Given the description of an element on the screen output the (x, y) to click on. 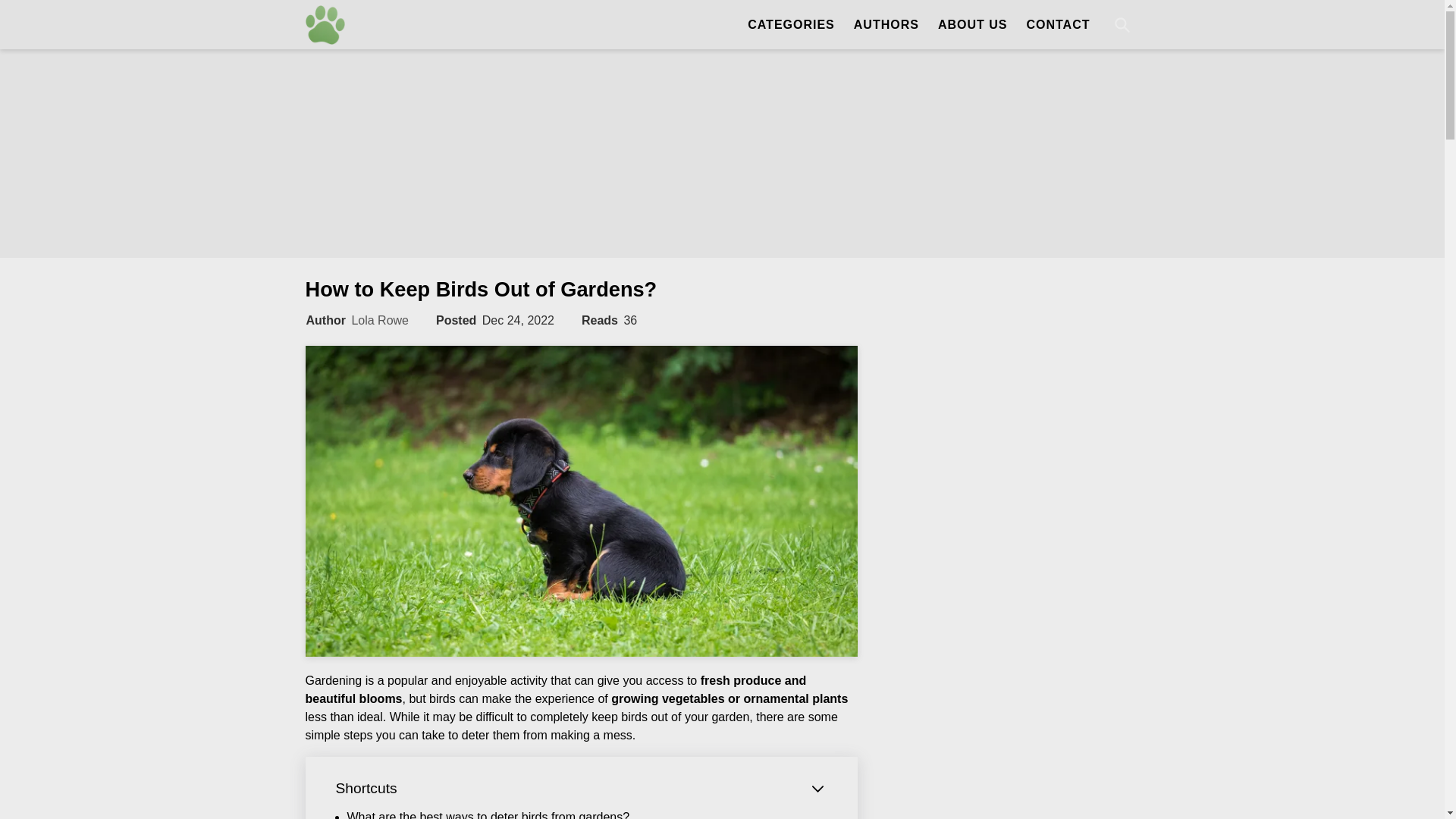
CONTACT (1057, 24)
ABOUT US (972, 24)
AUTHORS (885, 24)
CATEGORIES (783, 24)
Lola Rowe (379, 319)
What are the best ways to deter birds from gardens? (488, 814)
